Given the description of an element on the screen output the (x, y) to click on. 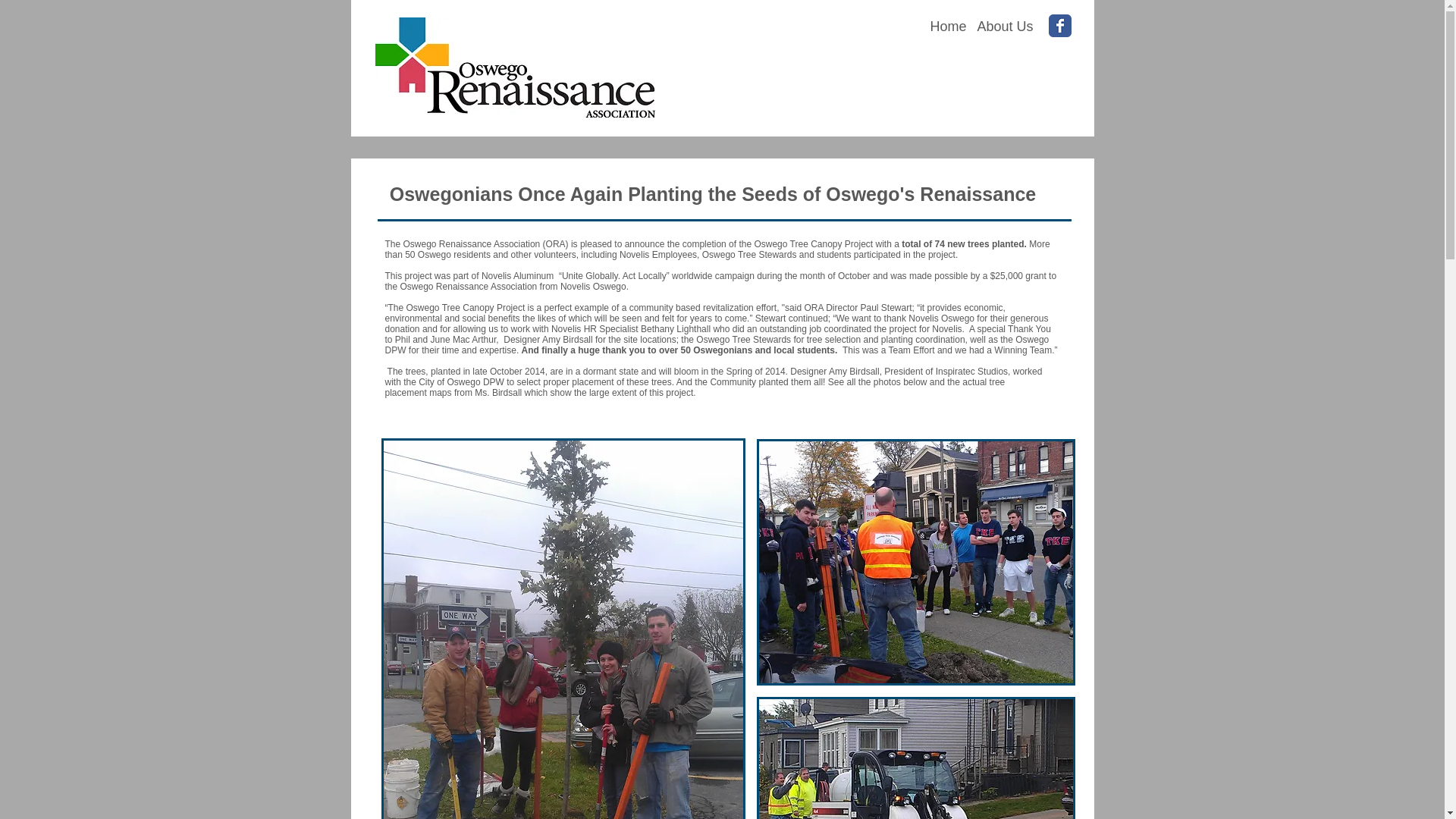
Oswego Renissance Association (514, 67)
About Us (1004, 26)
Home (948, 26)
